Given the description of an element on the screen output the (x, y) to click on. 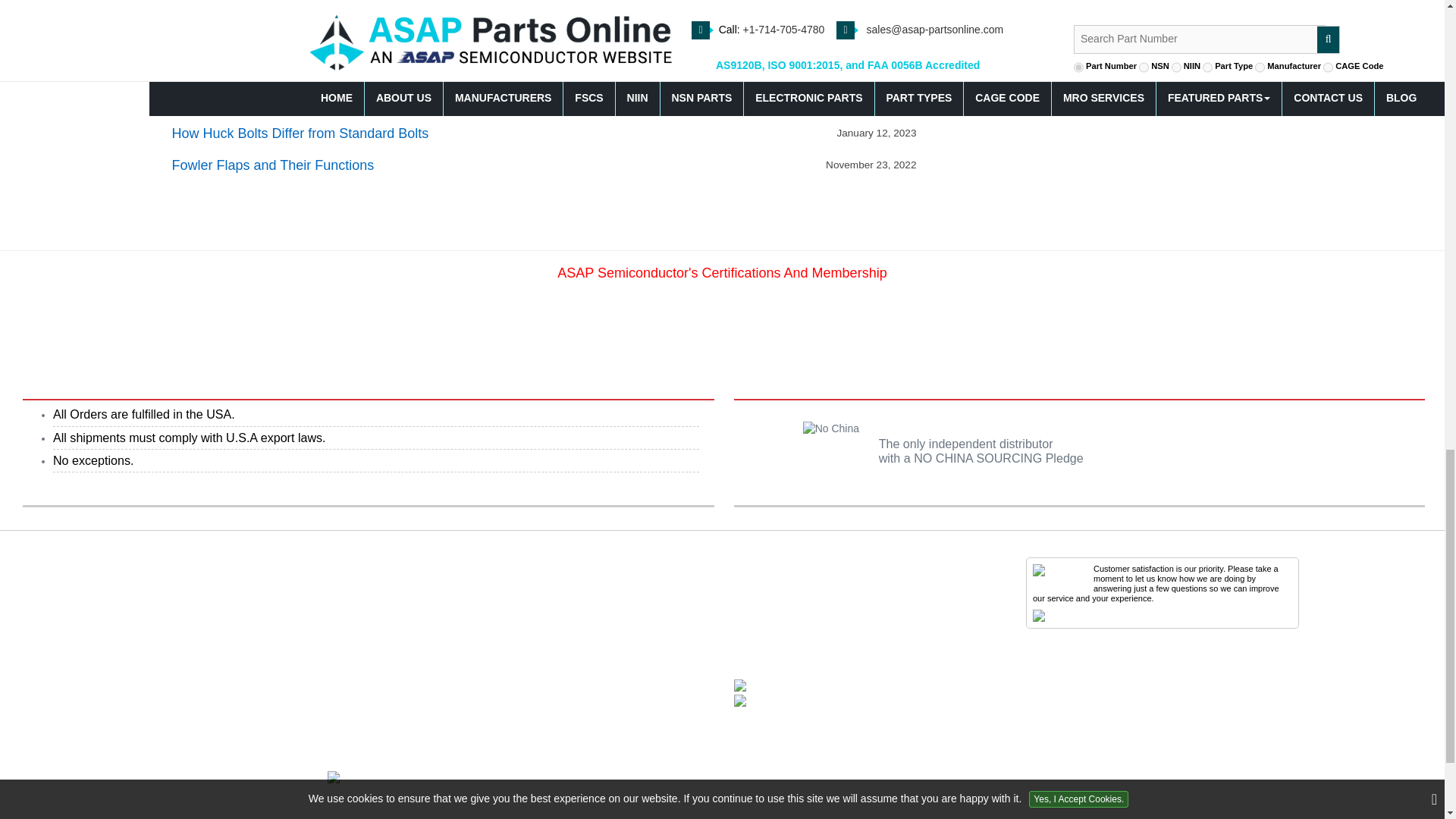
Fowler Flaps and Their Functions (272, 166)
How Huck Bolts Differ from Standard Bolts (299, 134)
Everything You Need to Know about Jam Nuts (311, 39)
